Given the description of an element on the screen output the (x, y) to click on. 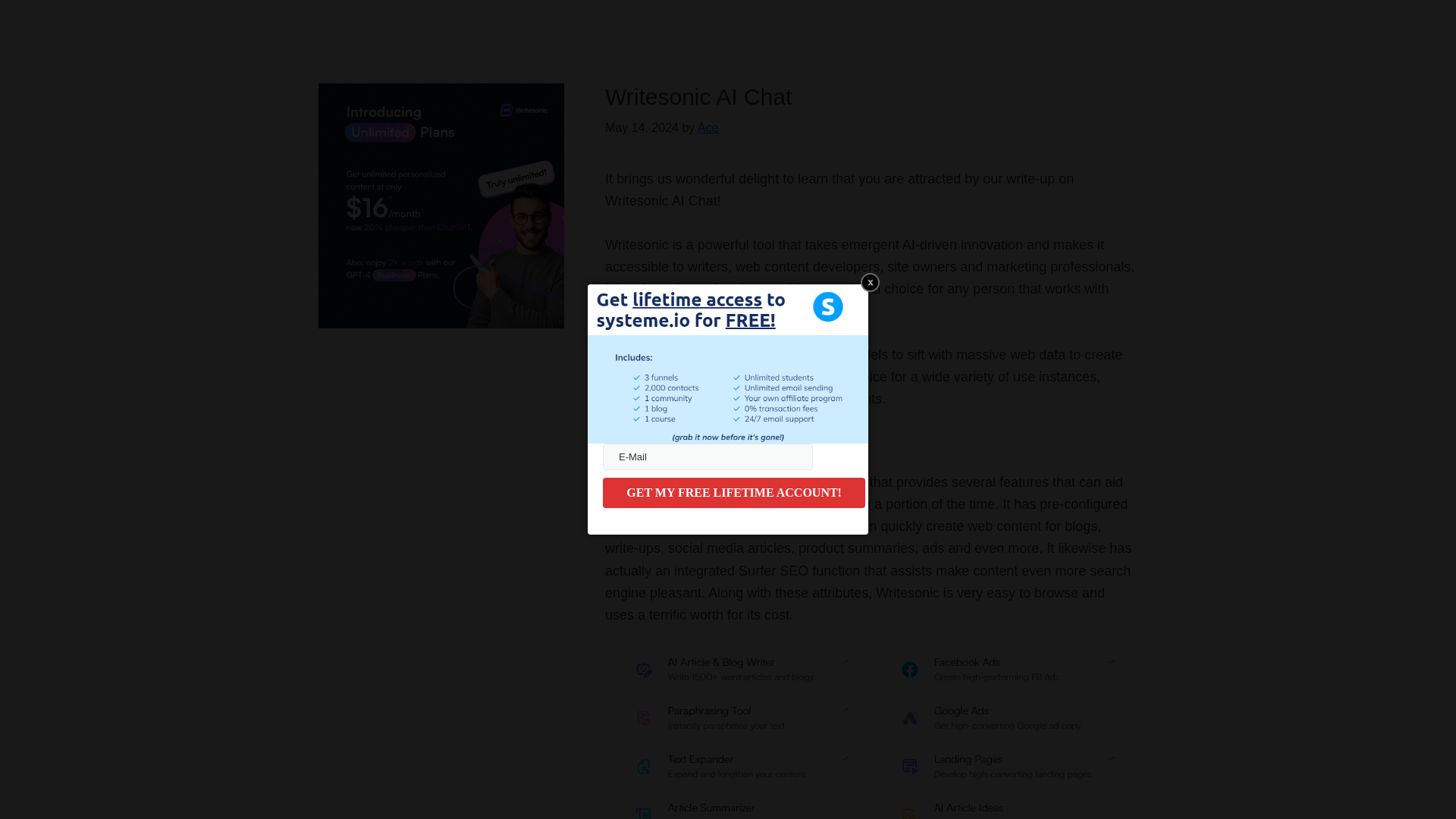
GET MY FREE LIFETIME ACCOUNT! (733, 492)
GET MY FREE LIFETIME ACCOUNT! (733, 492)
Ace (708, 127)
